Given the description of an element on the screen output the (x, y) to click on. 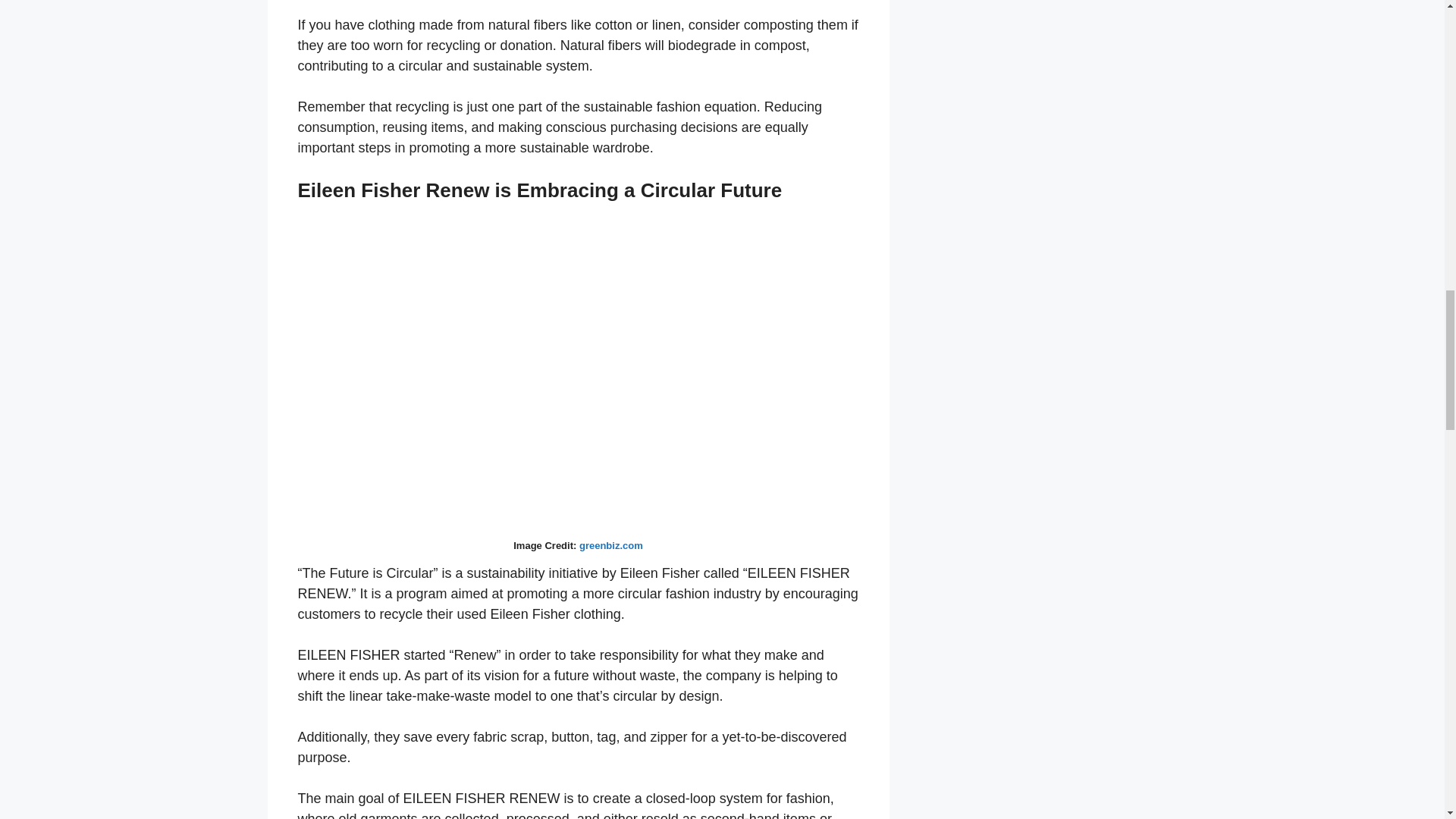
greenbiz.com (611, 545)
